Given the description of an element on the screen output the (x, y) to click on. 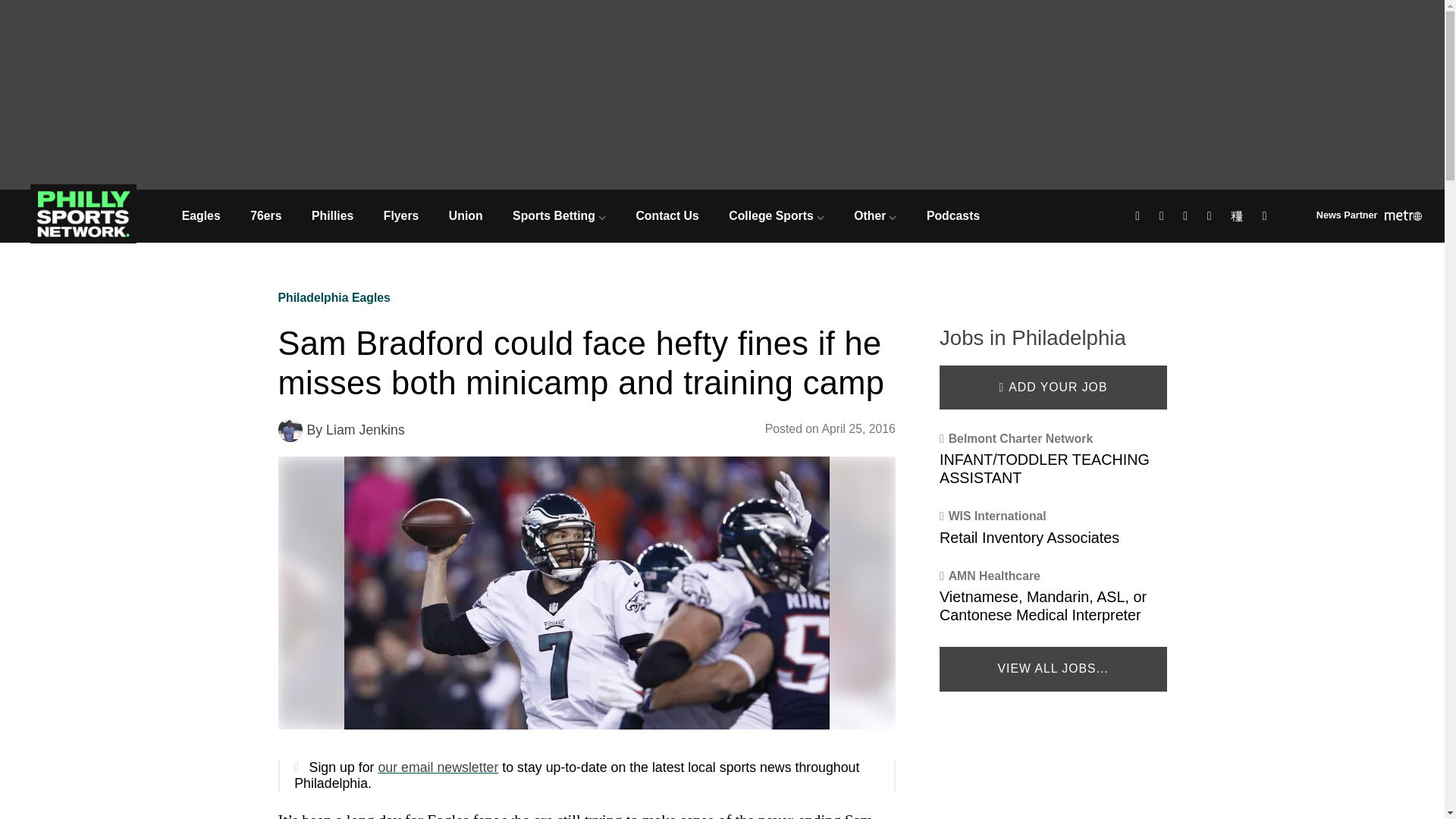
Eagles (200, 215)
Sports Betting (558, 215)
76ers (265, 215)
Other (876, 215)
Union (465, 215)
College Sports (777, 215)
Phillies (332, 215)
Contact Us (667, 215)
News Partner (1369, 216)
Podcasts (952, 215)
